Given the description of an element on the screen output the (x, y) to click on. 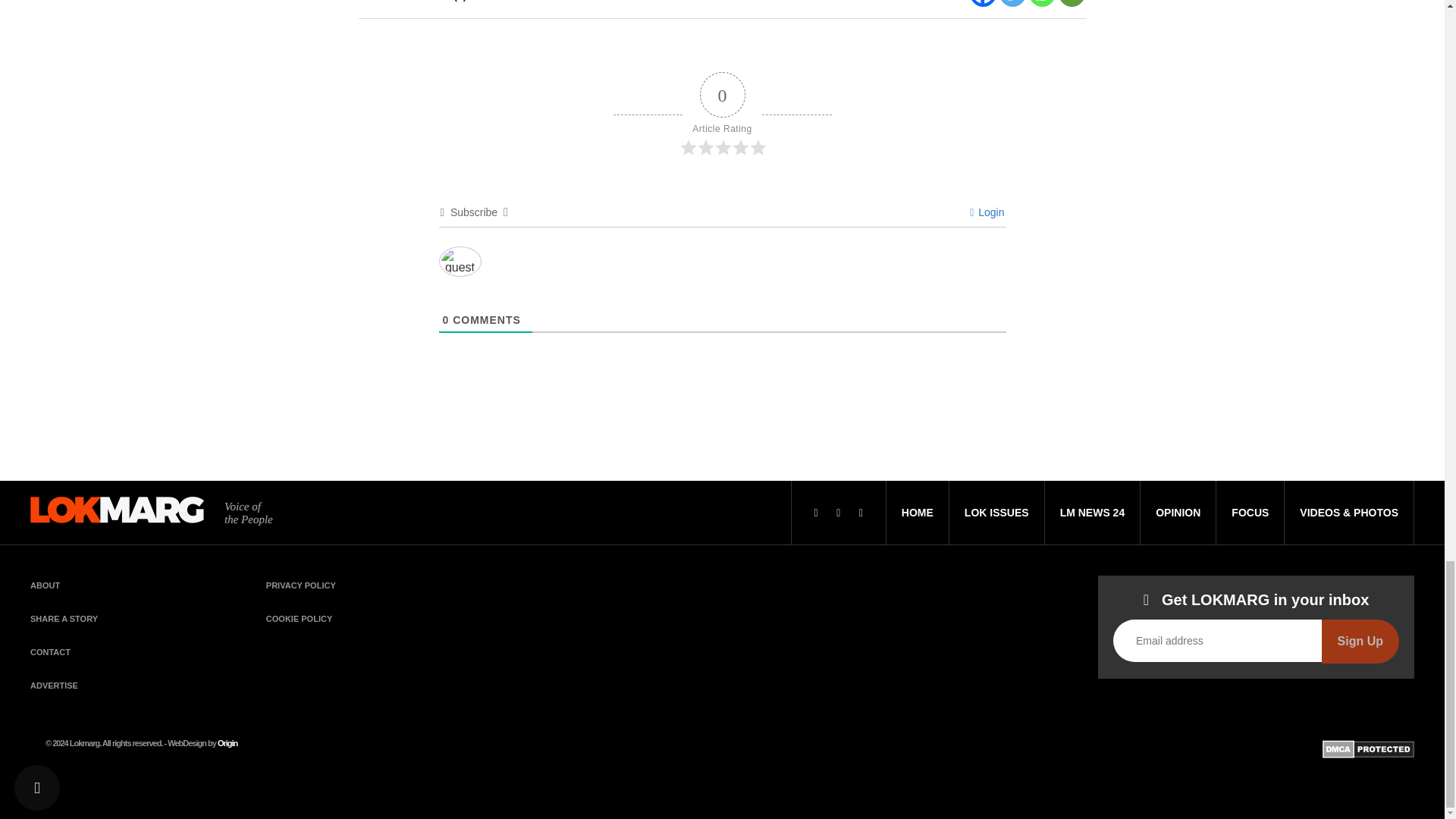
Sign Up (1360, 641)
Login (986, 212)
